Given the description of an element on the screen output the (x, y) to click on. 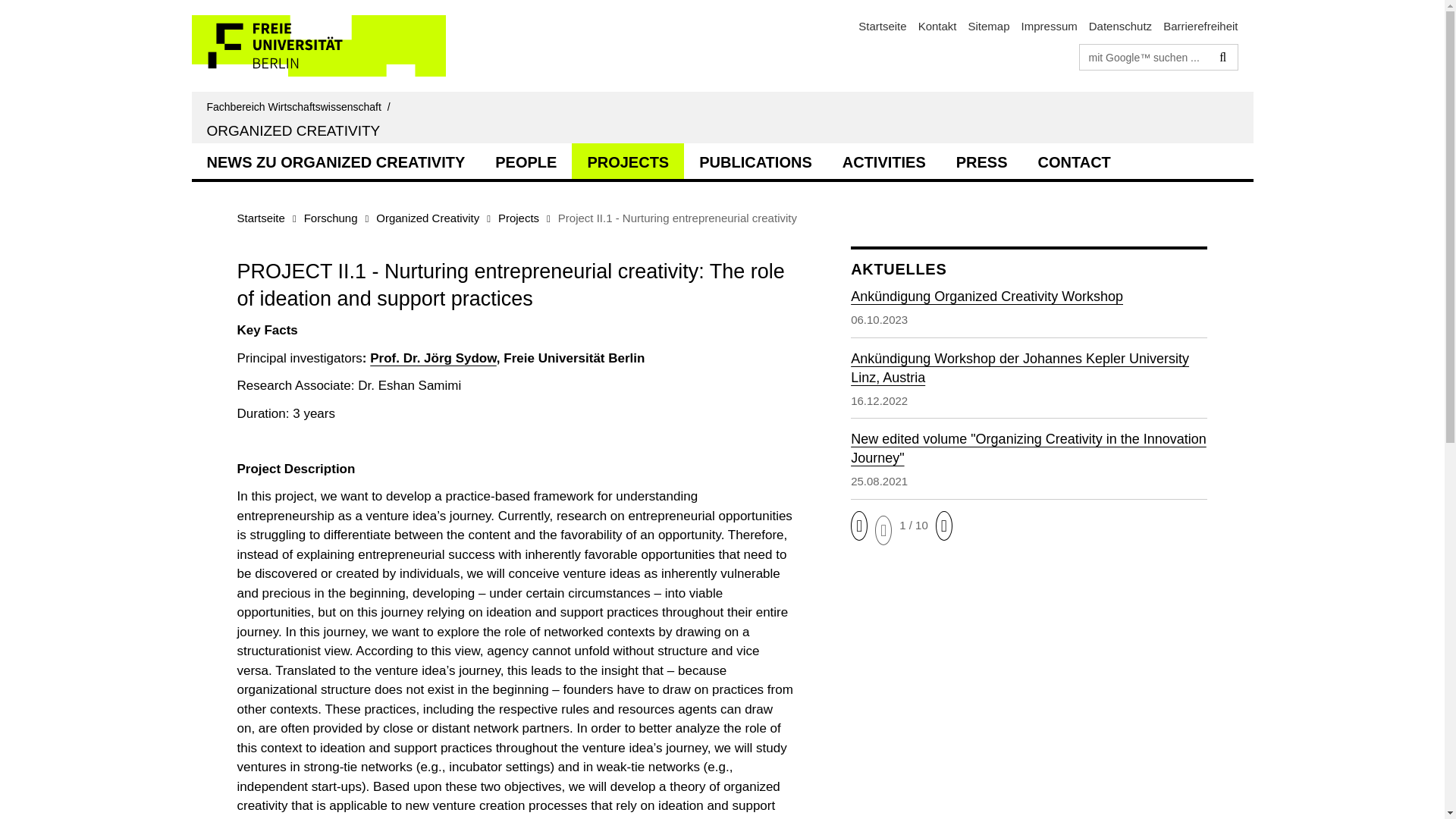
PROJECTS (628, 160)
Zur Startseite von:  (301, 106)
Suchbegriff bitte hier eingeben (1144, 56)
ORGANIZED CREATIVITY (293, 130)
Datenschutz (1120, 25)
Zur Startseite von:  Organized Creativity (293, 130)
Barrierefreiheit (1200, 25)
PEOPLE (526, 160)
NEWS ZU ORGANIZED CREATIVITY (335, 160)
Impressum (1049, 25)
